Given the description of an element on the screen output the (x, y) to click on. 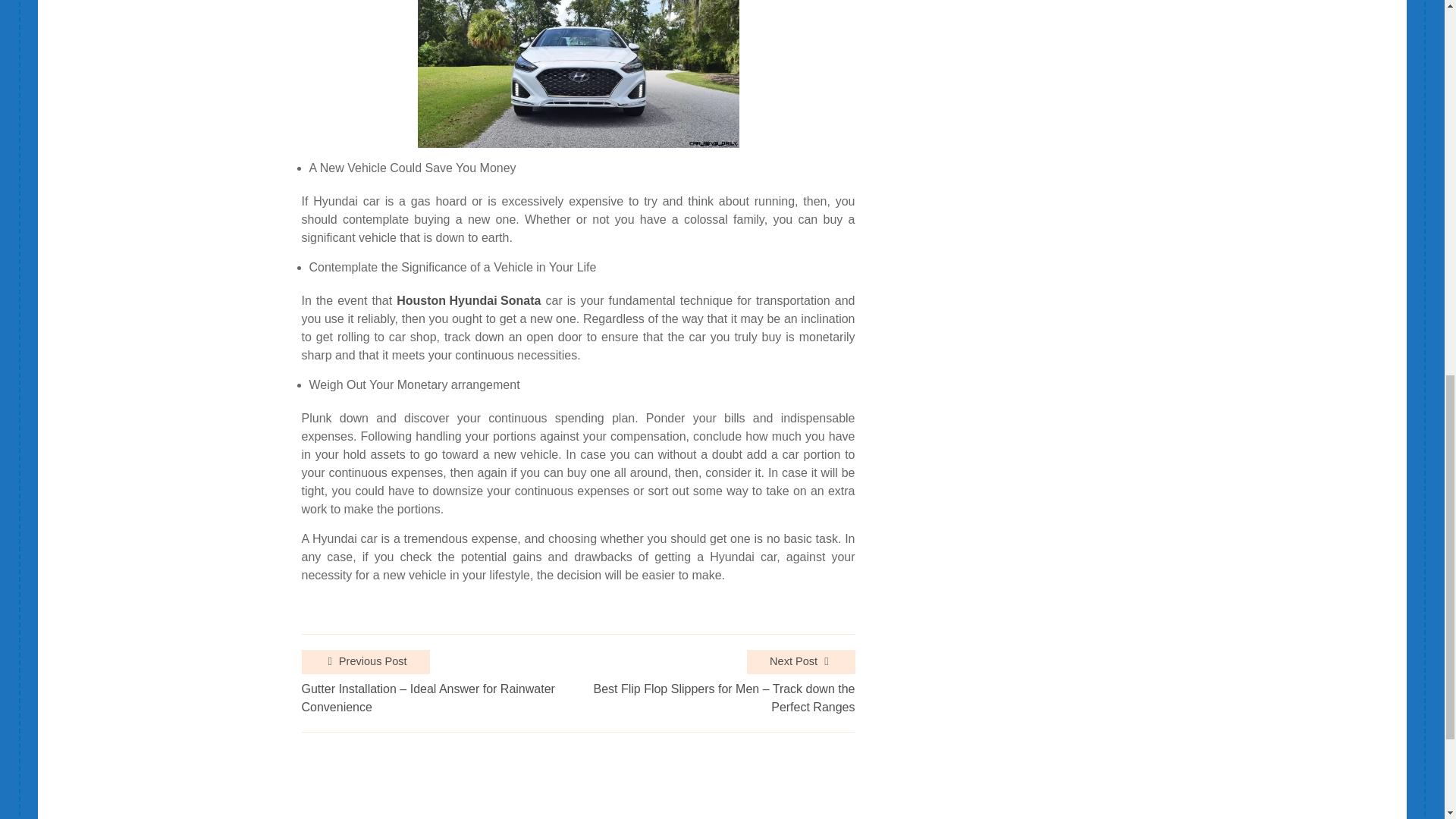
Previous Post (365, 662)
Next Post (800, 662)
Houston Hyundai Sonata (468, 300)
